Given the description of an element on the screen output the (x, y) to click on. 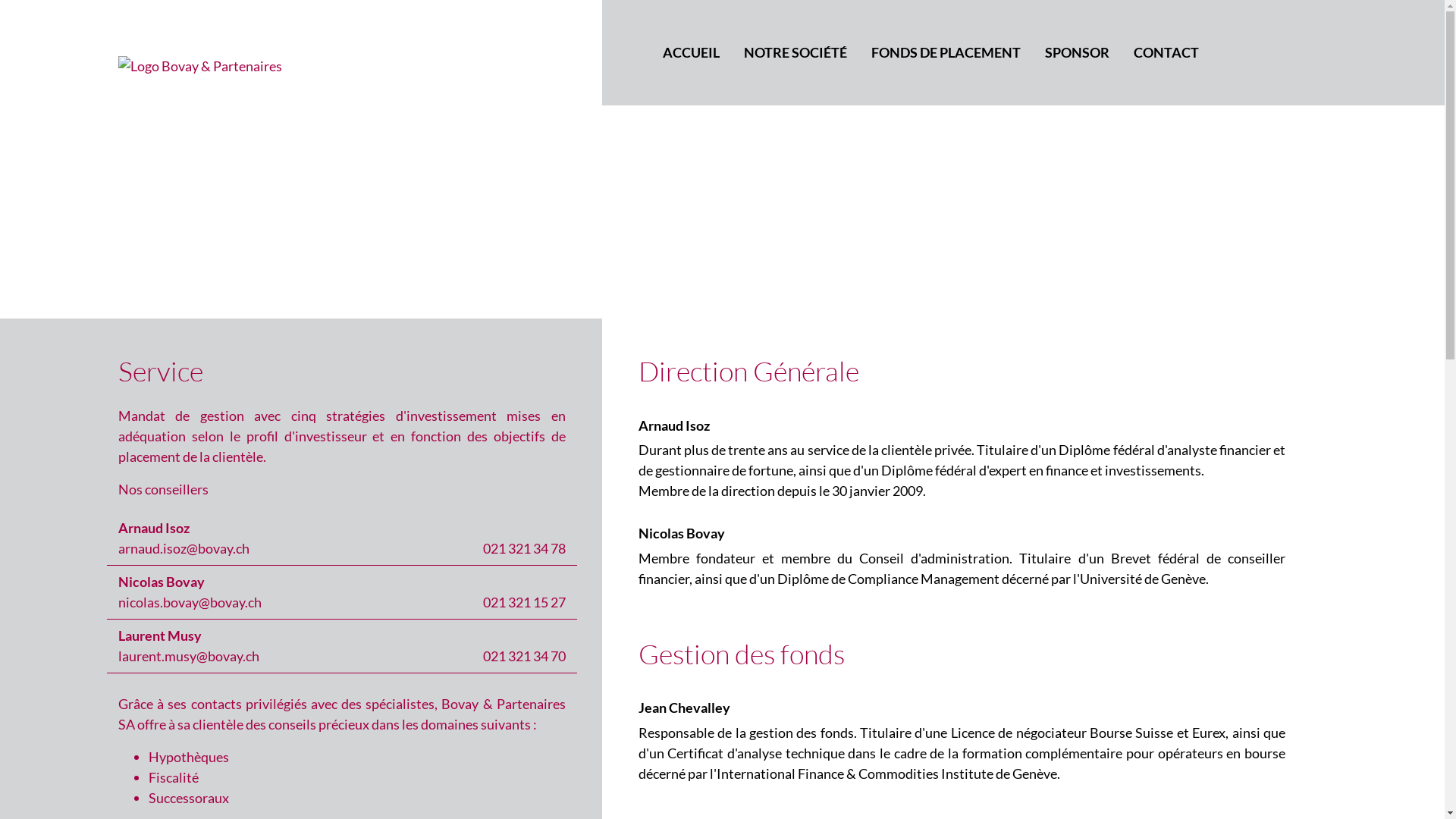
021 321 34 70 Element type: text (524, 655)
CONTACT Element type: text (1166, 52)
nicolas.bovay@bovay.ch Element type: text (189, 601)
021 321 34 78 Element type: text (524, 547)
Jean Chevalley Element type: text (687, 707)
Nicolas Bovay Element type: text (684, 532)
Accueil Element type: hover (300, 65)
021 321 15 27 Element type: text (524, 601)
Laurent Musy Element type: text (162, 635)
arnaud.isoz@bovay.ch Element type: text (183, 547)
ACCUEIL Element type: text (690, 52)
laurent.musy@bovay.ch Element type: text (188, 655)
Arnaud Isoz Element type: text (676, 425)
SPONSOR Element type: text (1076, 52)
Arnaud Isoz Element type: text (156, 527)
Nicolas Bovay Element type: text (164, 581)
FONDS DE PLACEMENT Element type: text (945, 52)
